Given the description of an element on the screen output the (x, y) to click on. 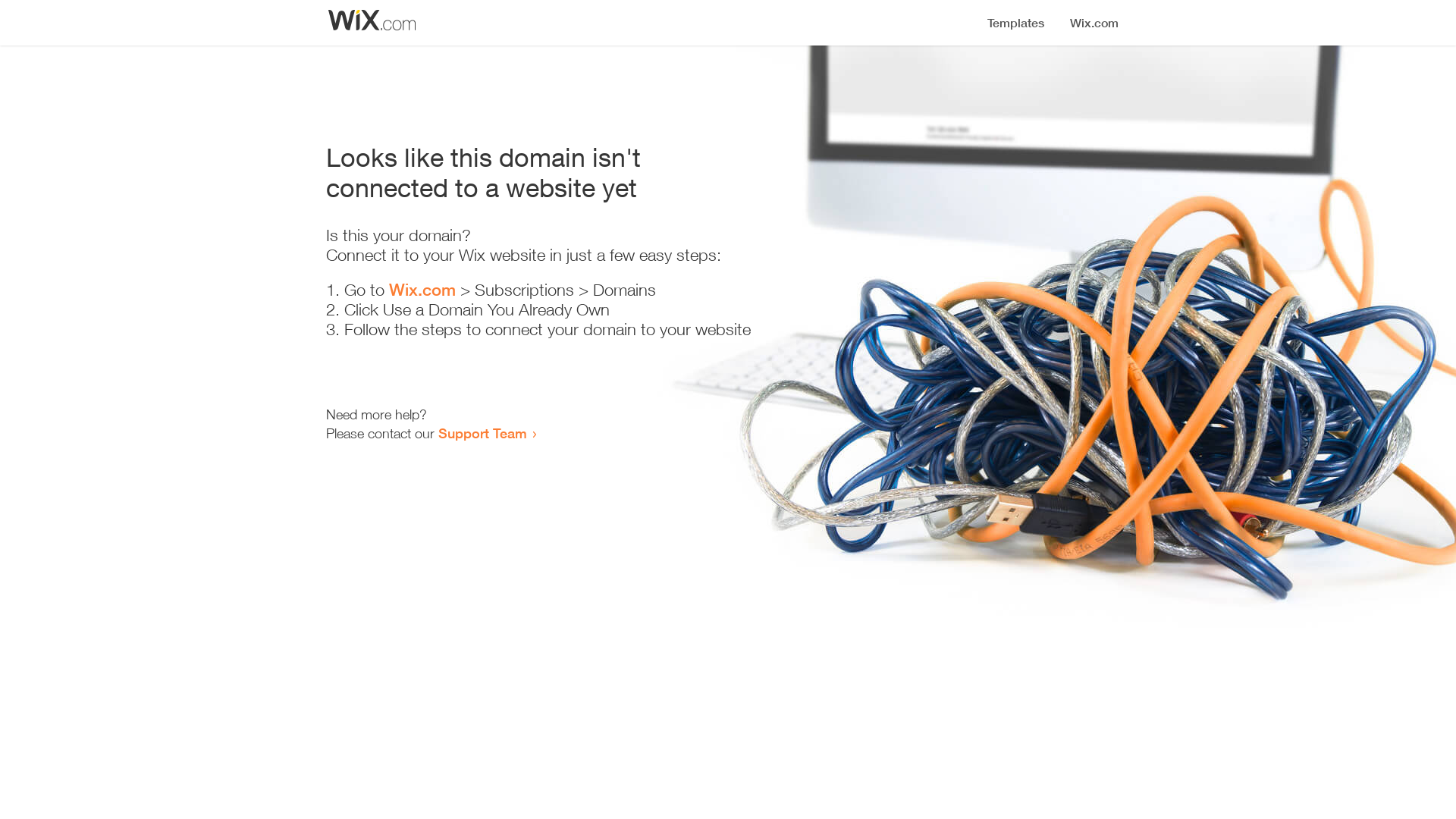
Wix.com Element type: text (422, 289)
Support Team Element type: text (482, 432)
